Given the description of an element on the screen output the (x, y) to click on. 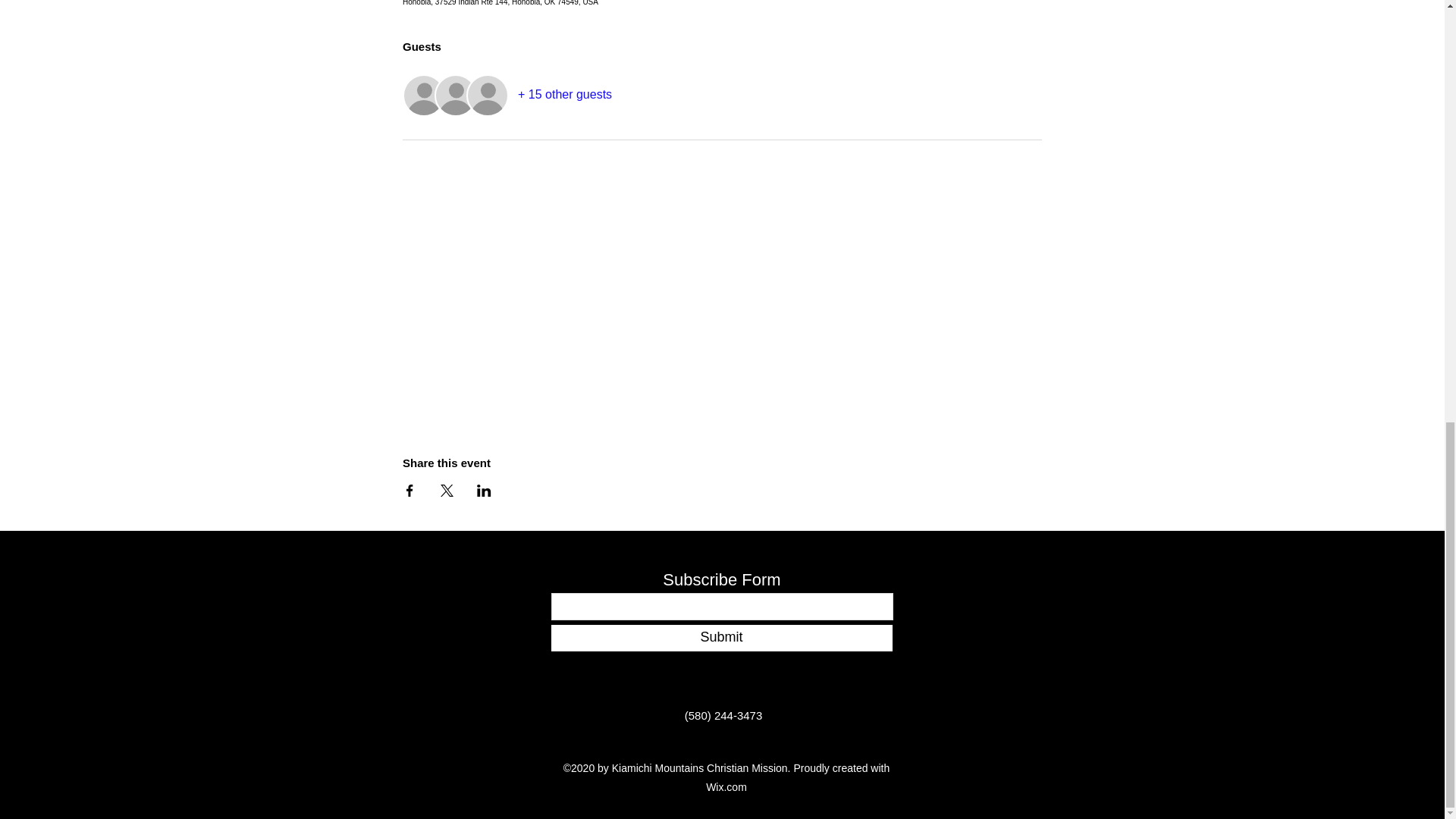
Submit (720, 637)
